Given the description of an element on the screen output the (x, y) to click on. 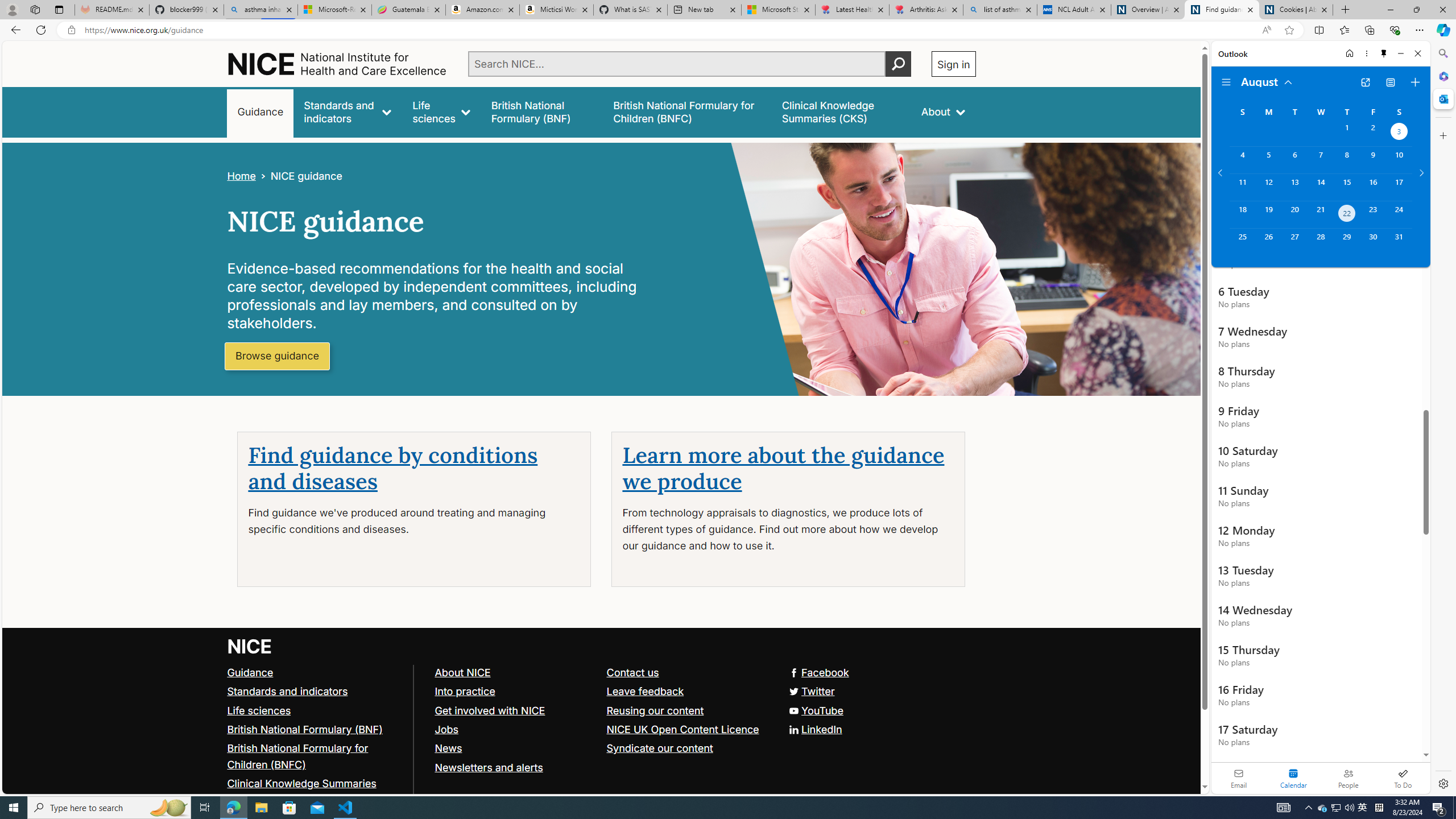
NICE UK Open Content Licence (681, 729)
Facebook (601, 672)
Reusing our content (654, 710)
Facebook (817, 671)
August (1267, 80)
Saturday, August 10, 2024.  (1399, 159)
